Given the description of an element on the screen output the (x, y) to click on. 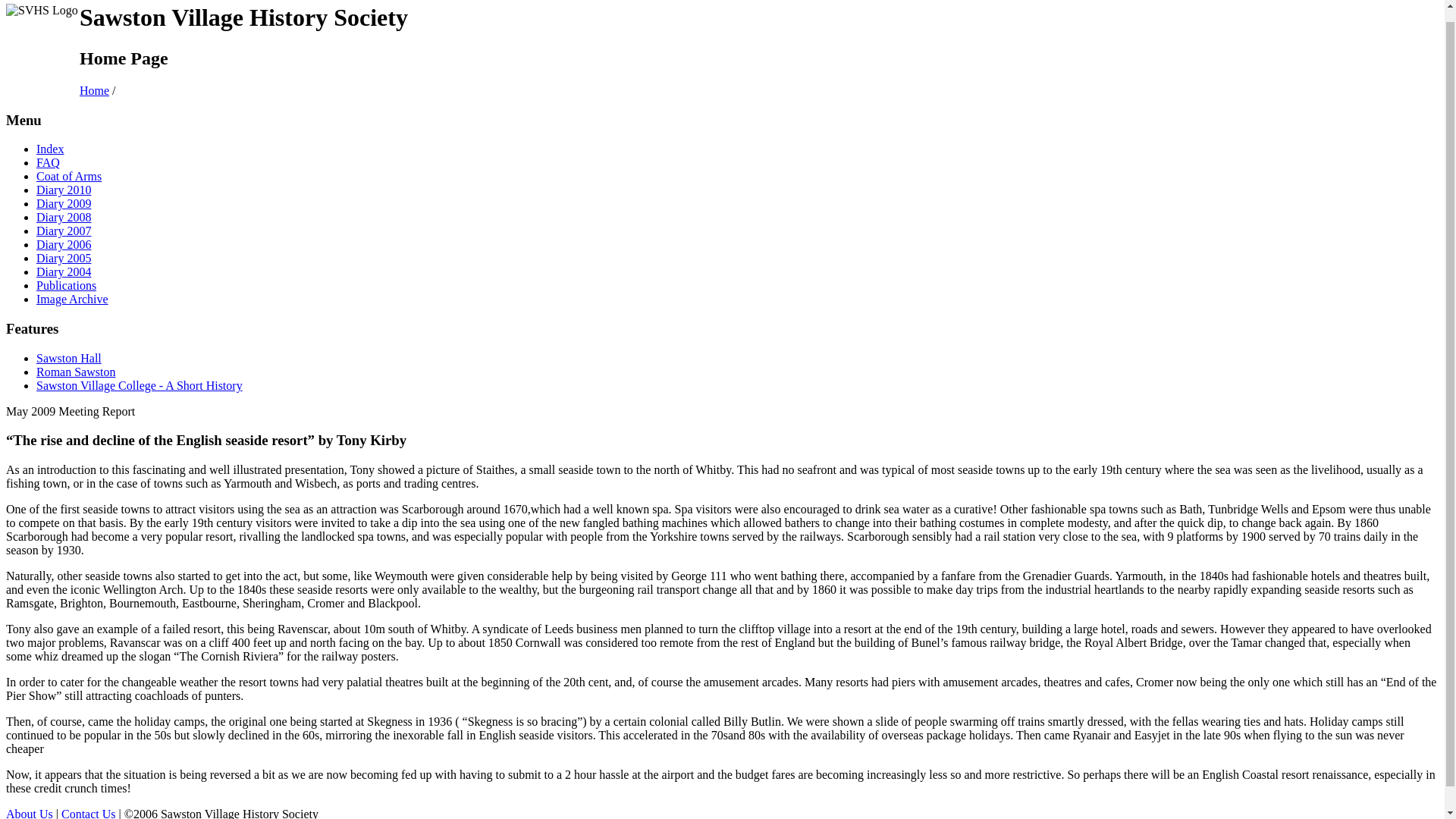
Home (94, 90)
Image Archive (71, 298)
Diary 2009 (63, 203)
Index (50, 148)
Publications (66, 285)
Diary 2004 (63, 271)
Sawston Village College - A Short History (139, 385)
Diary 2006 (63, 244)
Diary 2010 (63, 189)
Sawston Hall (68, 358)
